Given the description of an element on the screen output the (x, y) to click on. 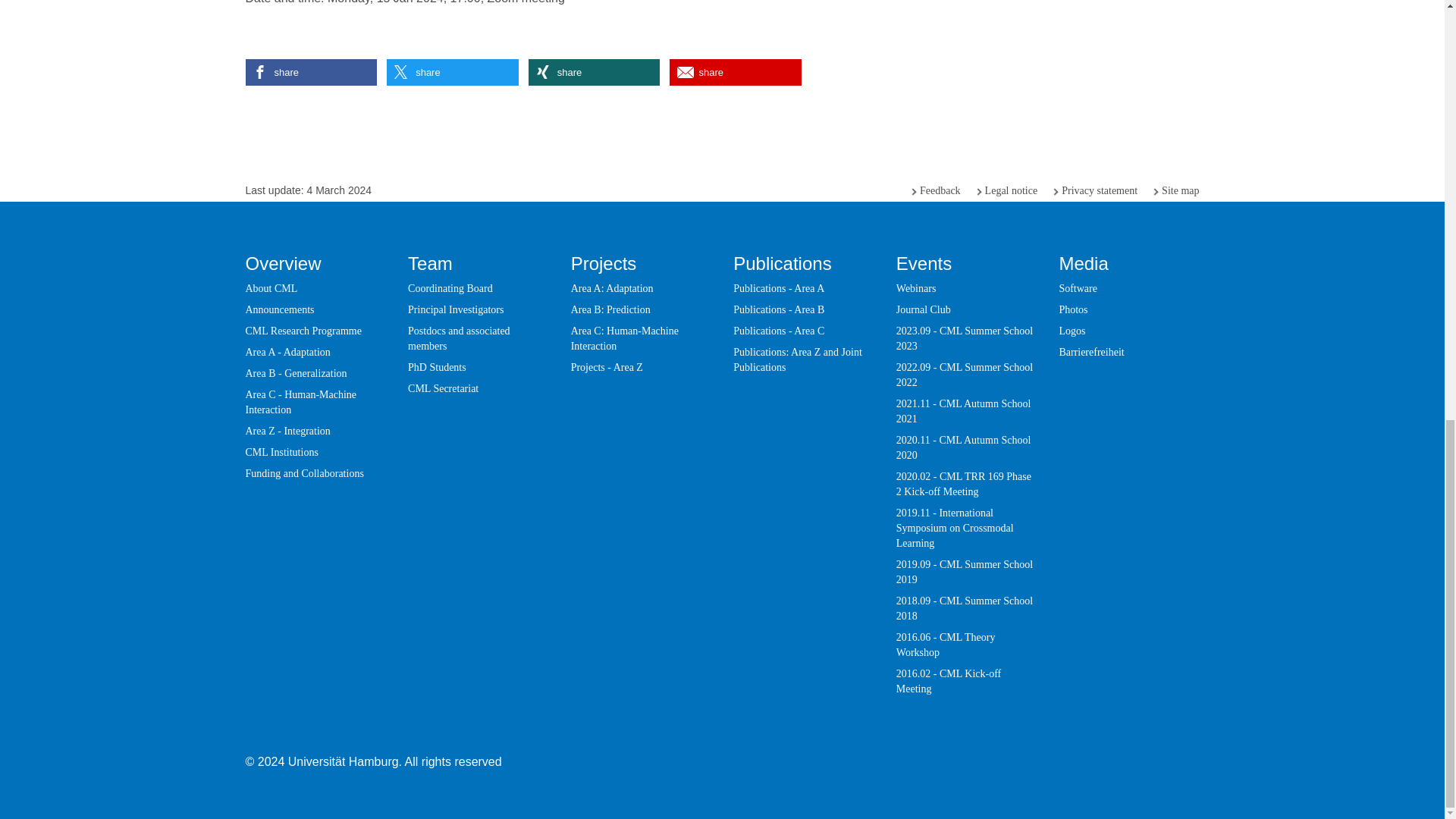
Share on Facebook (311, 71)
Share on X (452, 71)
Share with e-mail (734, 71)
Share on Xing (593, 71)
